Given the description of an element on the screen output the (x, y) to click on. 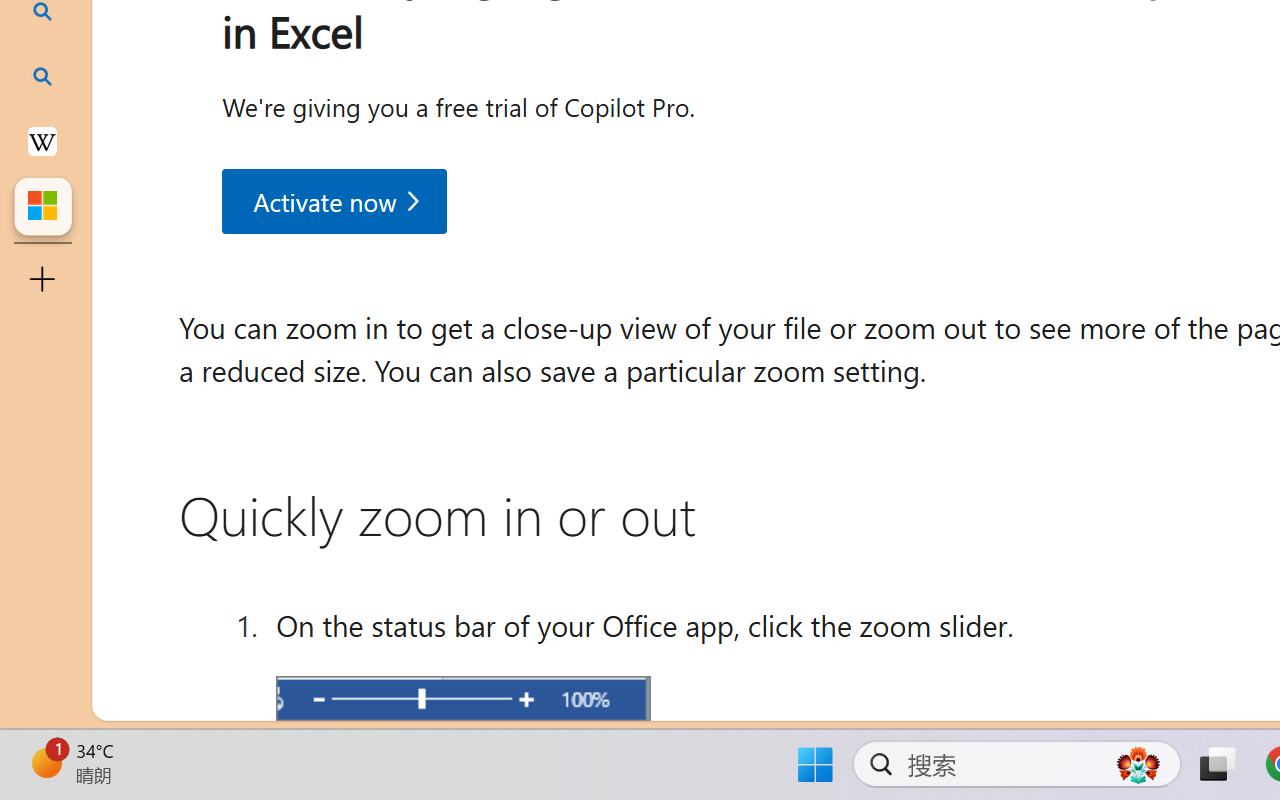
Zoom slider (462, 701)
Earth - Wikipedia (42, 140)
